Given the description of an element on the screen output the (x, y) to click on. 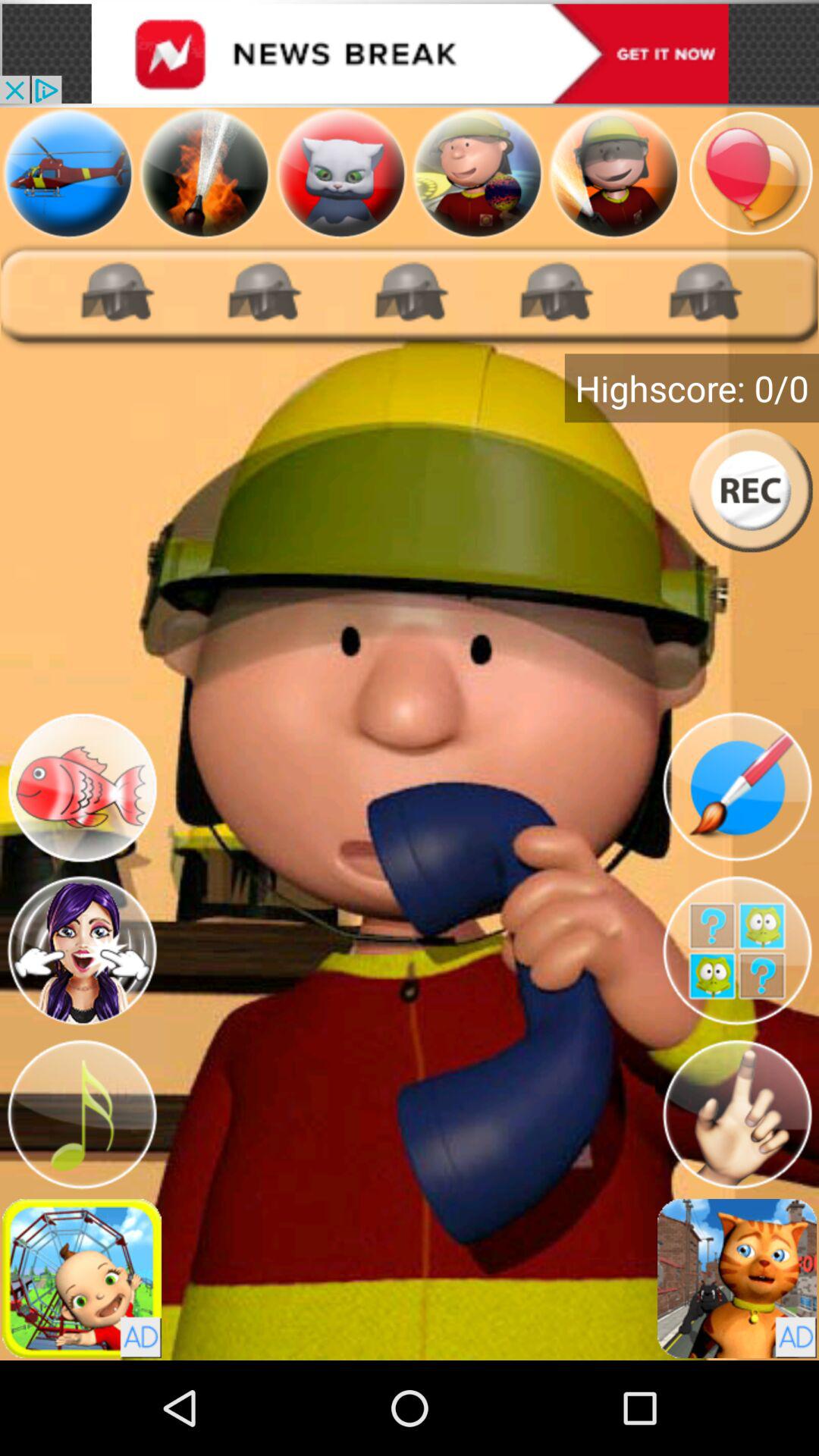
play with helicopter (68, 173)
